Given the description of an element on the screen output the (x, y) to click on. 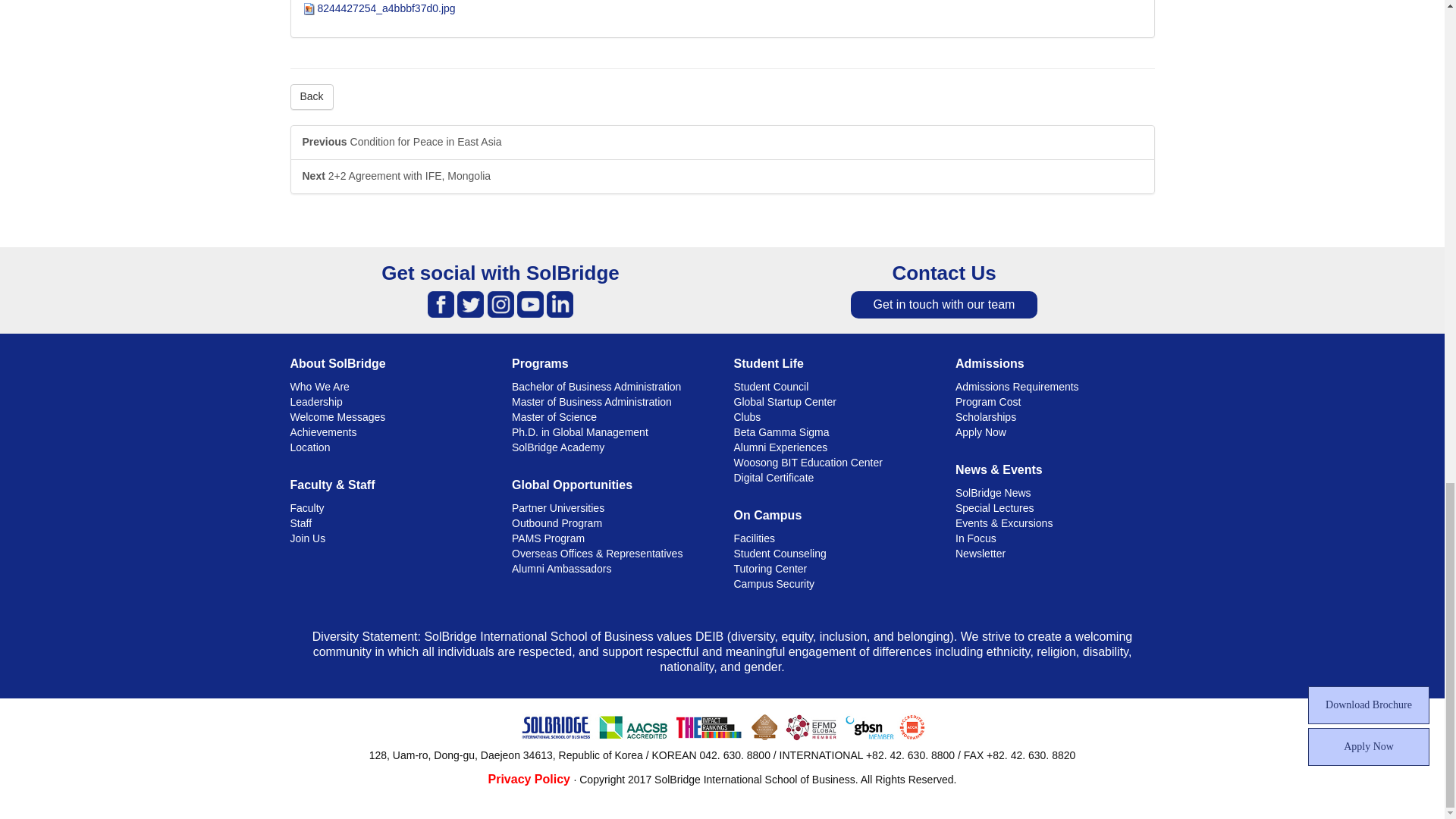
Return to the page. (311, 96)
Connect with us on Twitter (470, 303)
Connect with us on LinkedIn (560, 303)
Connect with us on instagram (499, 303)
Connect with us on Youtube (529, 303)
Connect with us on Facebook (441, 303)
